Given the description of an element on the screen output the (x, y) to click on. 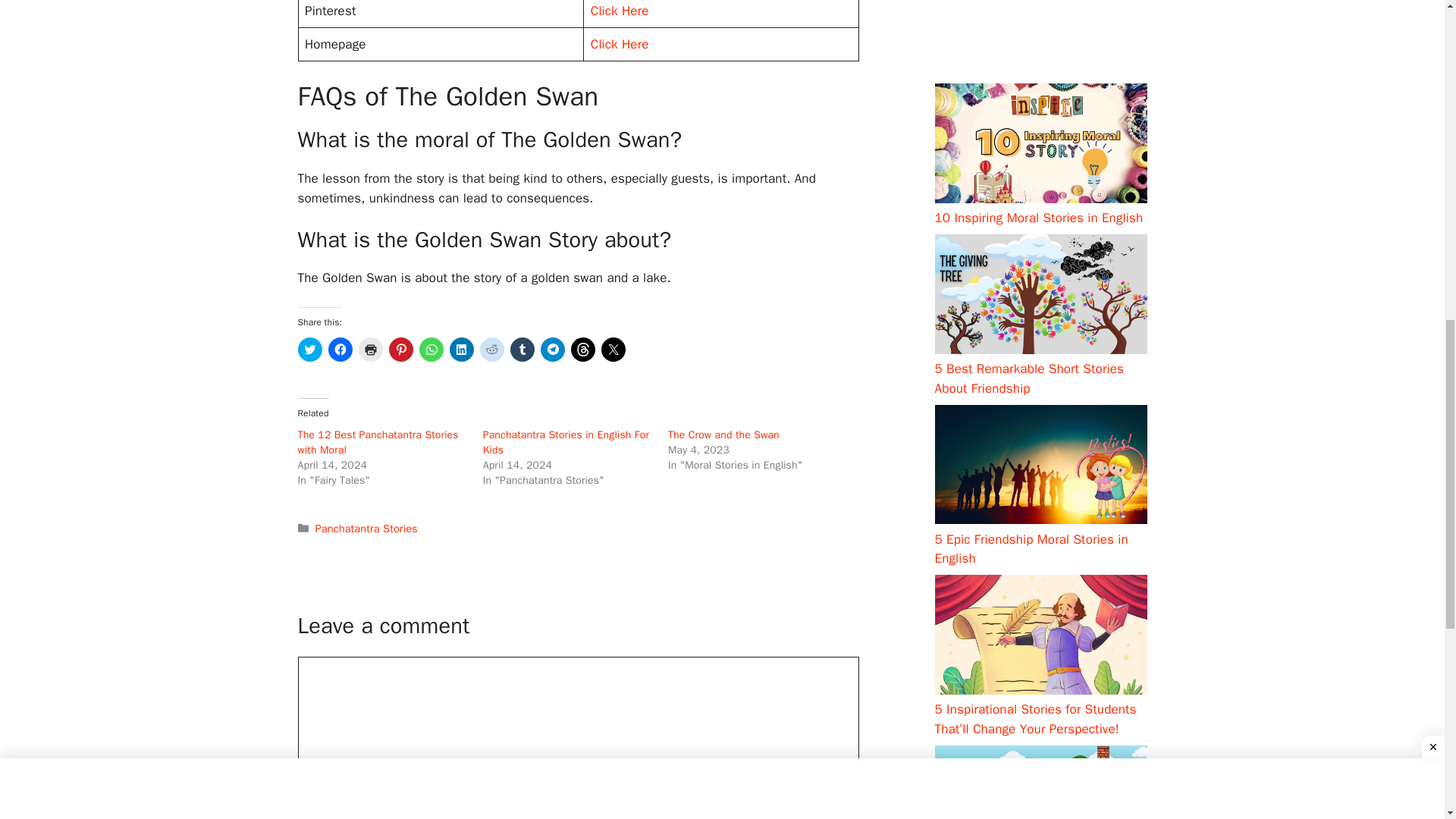
The 12 Best Panchatantra Stories with Moral (377, 442)
Click to share on Telegram (552, 349)
Click to share on LinkedIn (460, 349)
Click to share on Pinterest (400, 349)
Click to share on Twitter (309, 349)
The Crow and the Swan (723, 434)
Click Here (620, 10)
Click to share on Reddit (491, 349)
Click to share on Facebook (339, 349)
Panchatantra Stories (366, 528)
5 Lines Short Stories with Moral, Quick Inspiration (1028, 79)
Click Here (620, 44)
Panchatantra Stories in English For Kids (566, 442)
Click to print (369, 349)
Click to share on Threads (582, 349)
